Given the description of an element on the screen output the (x, y) to click on. 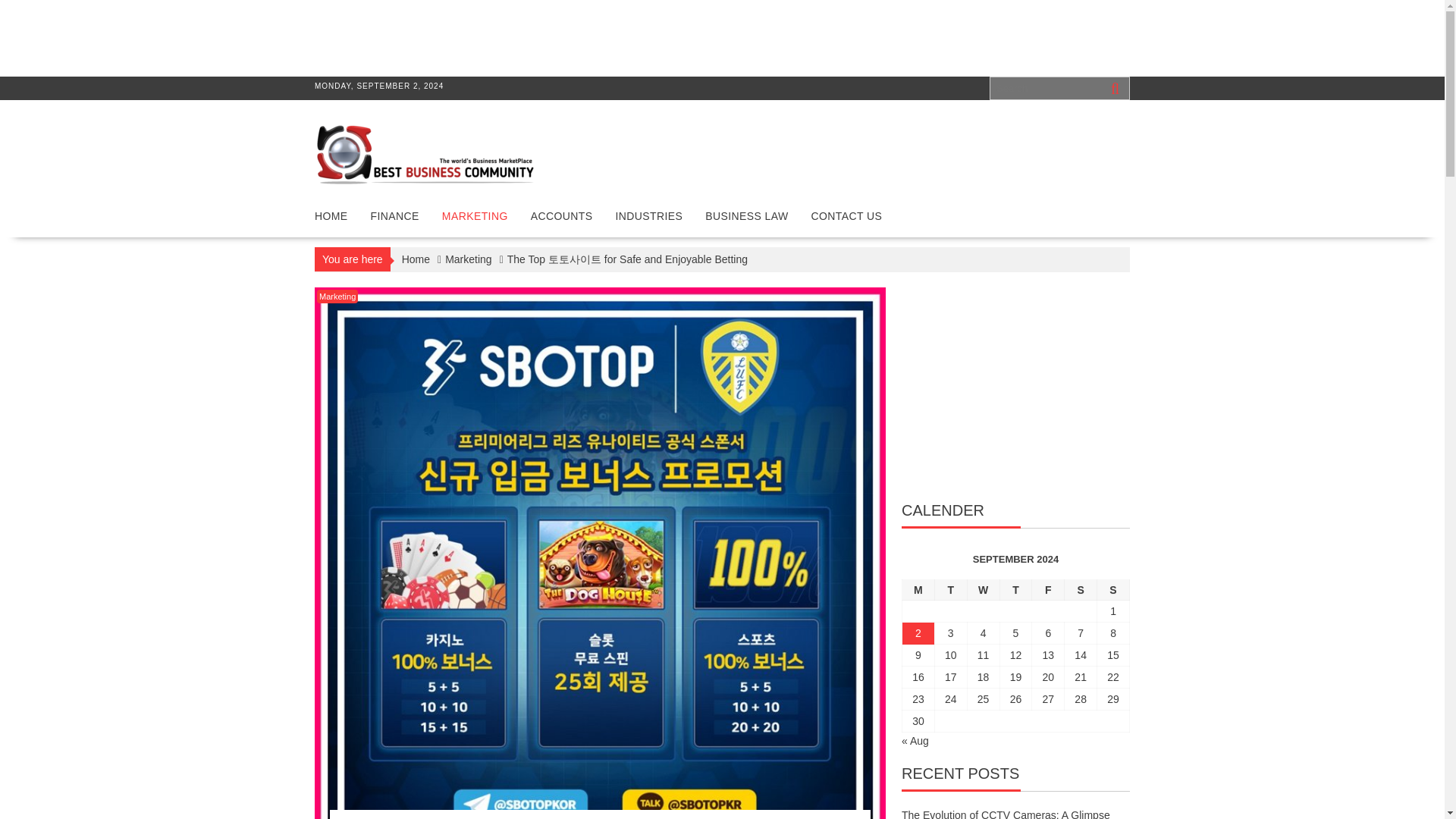
Monday (918, 589)
Marketing (337, 296)
Home (415, 258)
INDUSTRIES (649, 216)
BUSINESS LAW (746, 216)
Thursday (1015, 589)
Advertisement (1015, 391)
FINANCE (394, 216)
Tuesday (950, 589)
Advertisement (265, 36)
